Given the description of an element on the screen output the (x, y) to click on. 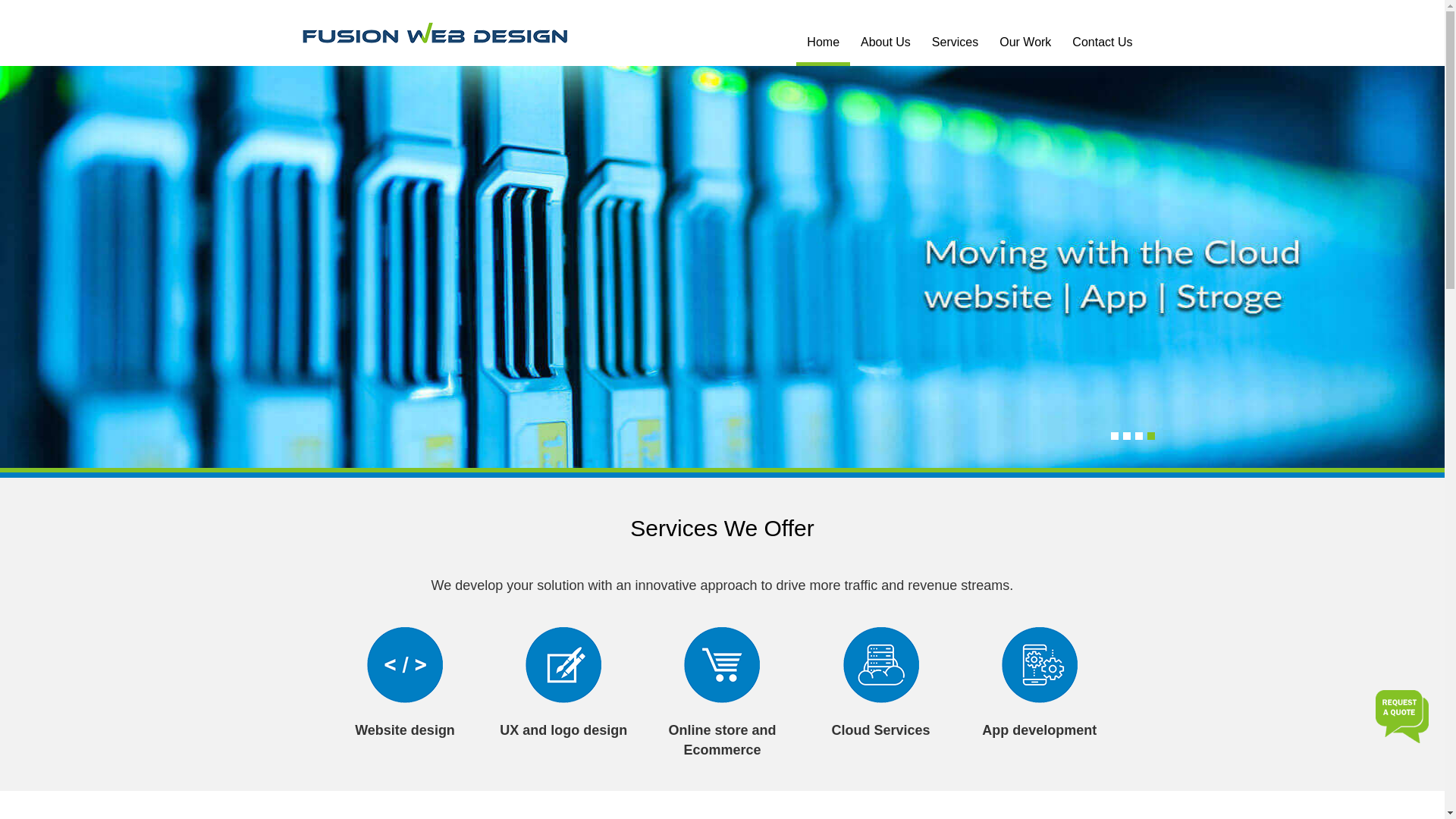
Home Element type: text (823, 43)
Services Element type: text (954, 40)
Contact Us Element type: text (1101, 40)
About Us Element type: text (885, 40)
Our Work Element type: text (1024, 40)
